Given the description of an element on the screen output the (x, y) to click on. 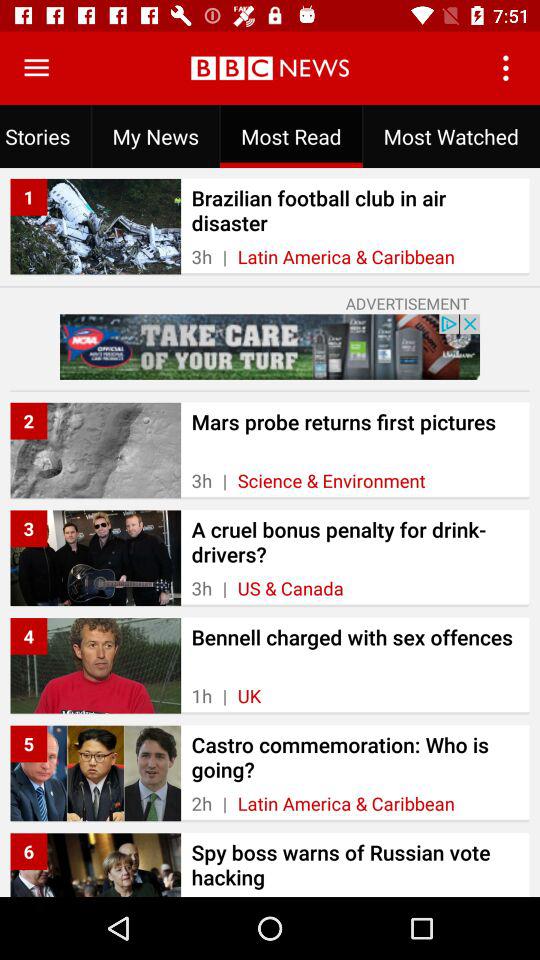
go to storage (36, 68)
